Given the description of an element on the screen output the (x, y) to click on. 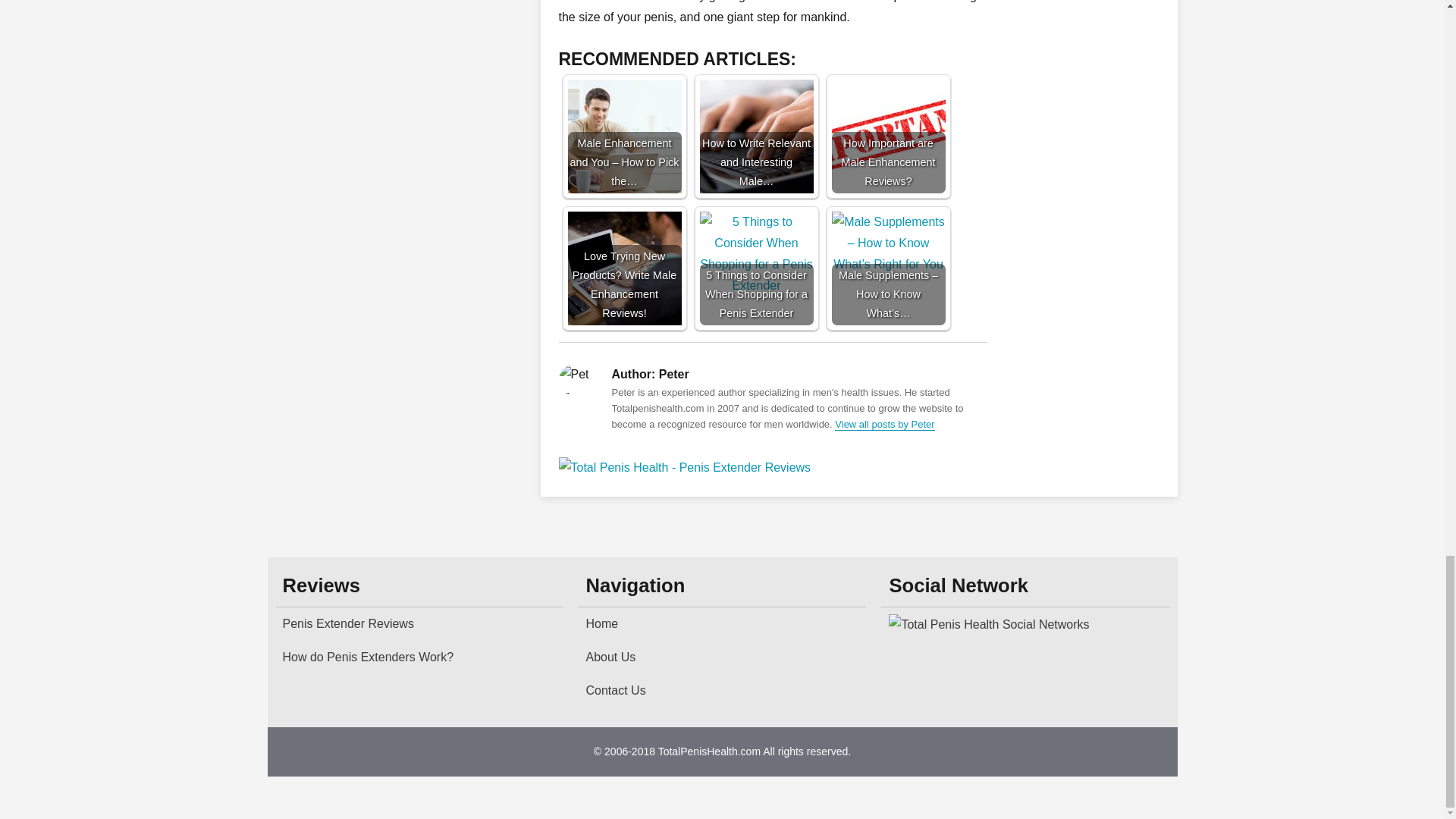
5 Things to Consider When Shopping for a Penis Extender (755, 268)
View all posts by Peter (884, 423)
Love Trying New Products? Write Male Enhancement Reviews! (624, 268)
Penis Extender Reviews (418, 623)
Total Penis Health - Penis Extender Reviews (772, 467)
How Important are Male Enhancement Reviews? (887, 136)
How do Penis Extenders Work? (418, 657)
5 Things to Consider When Shopping for a Penis Extender (755, 268)
Love Trying New Products? Write Male Enhancement Reviews! (624, 268)
How Important are Male Enhancement Reviews? (887, 136)
